Given the description of an element on the screen output the (x, y) to click on. 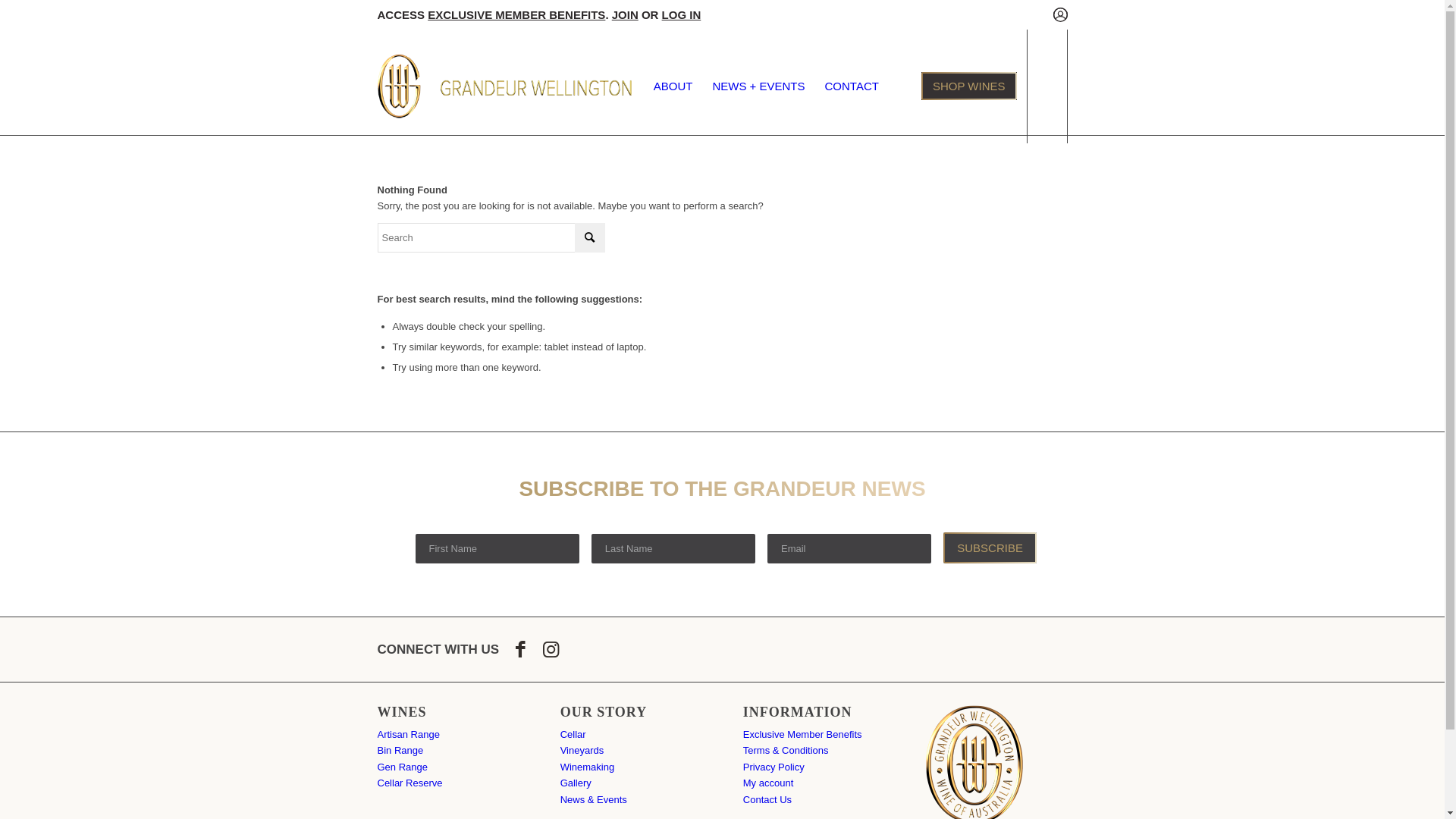
Artisan Range Element type: text (408, 734)
Grandeur-Wellington-Logo Element type: hover (504, 86)
News & Events Element type: text (593, 799)
Privacy Policy Element type: text (773, 766)
Winemaking Element type: text (587, 766)
Instagram Element type: hover (550, 651)
Bin Range Element type: text (400, 750)
CONTACT Element type: text (851, 86)
Terms & Conditions Element type: text (785, 750)
LOG IN Element type: text (681, 14)
Vineyards Element type: text (582, 750)
My account Element type: text (768, 782)
Exclusive Member Benefits Element type: text (802, 734)
NEWS + EVENTS Element type: text (758, 86)
Gen Range Element type: text (402, 766)
Contact Us Element type: text (767, 799)
Cellar Reserve Element type: text (409, 782)
SHOP WINES Element type: text (968, 86)
Cellar Element type: text (573, 734)
JOIN Element type: text (624, 14)
ABOUT Element type: text (672, 86)
Facebook Element type: hover (520, 651)
Gallery Element type: text (575, 782)
EXCLUSIVE MEMBER BENEFITS Element type: text (516, 14)
Subscribe Element type: text (989, 547)
